Given the description of an element on the screen output the (x, y) to click on. 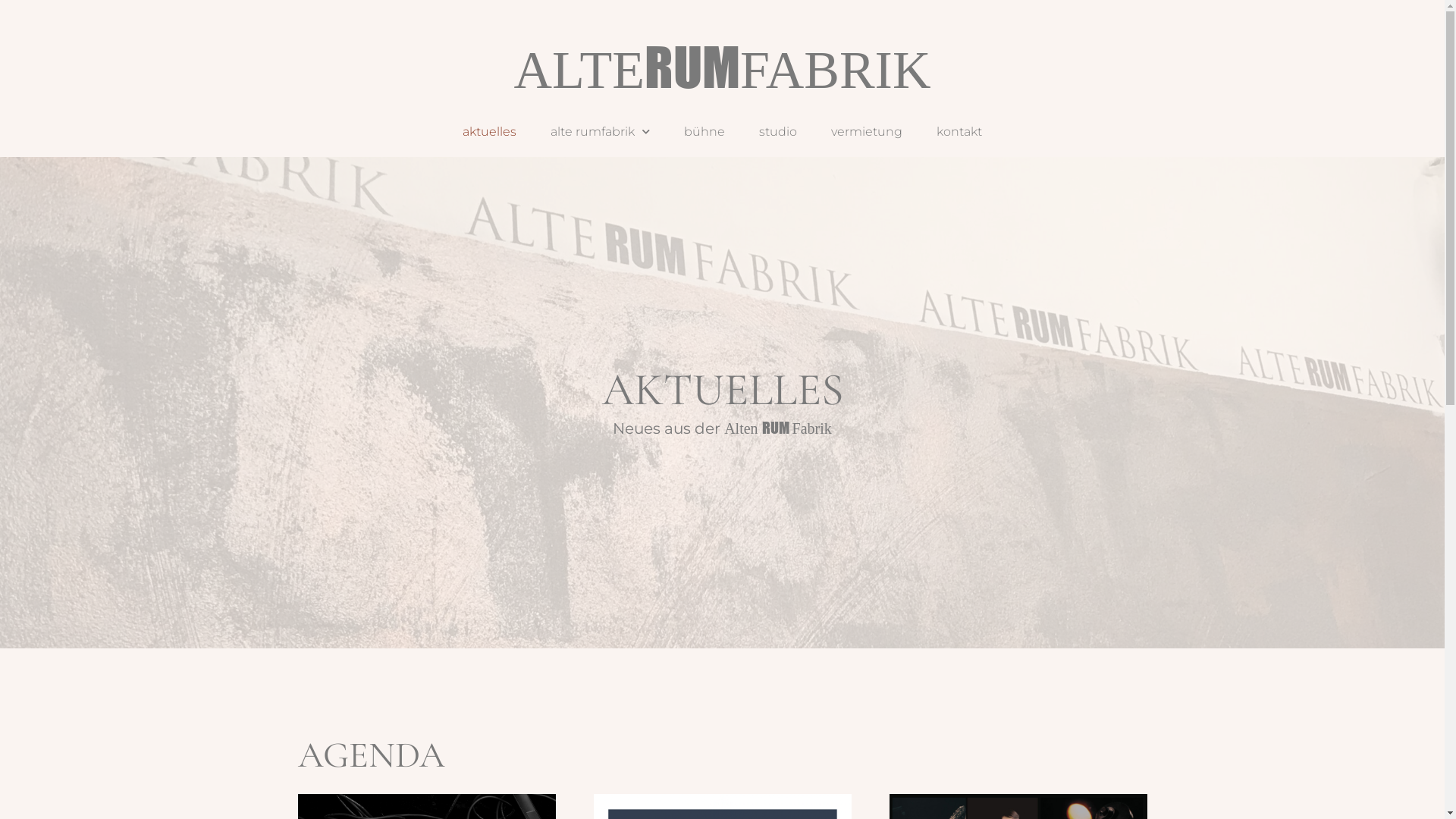
ALTERUMFABRIK Element type: text (722, 69)
studio Element type: text (777, 131)
vermietung Element type: text (866, 131)
aktuelles Element type: text (489, 131)
alte rumfabrik Element type: text (600, 131)
Alten RUM Fabrik Element type: text (777, 428)
kontakt Element type: text (959, 131)
